Given the description of an element on the screen output the (x, y) to click on. 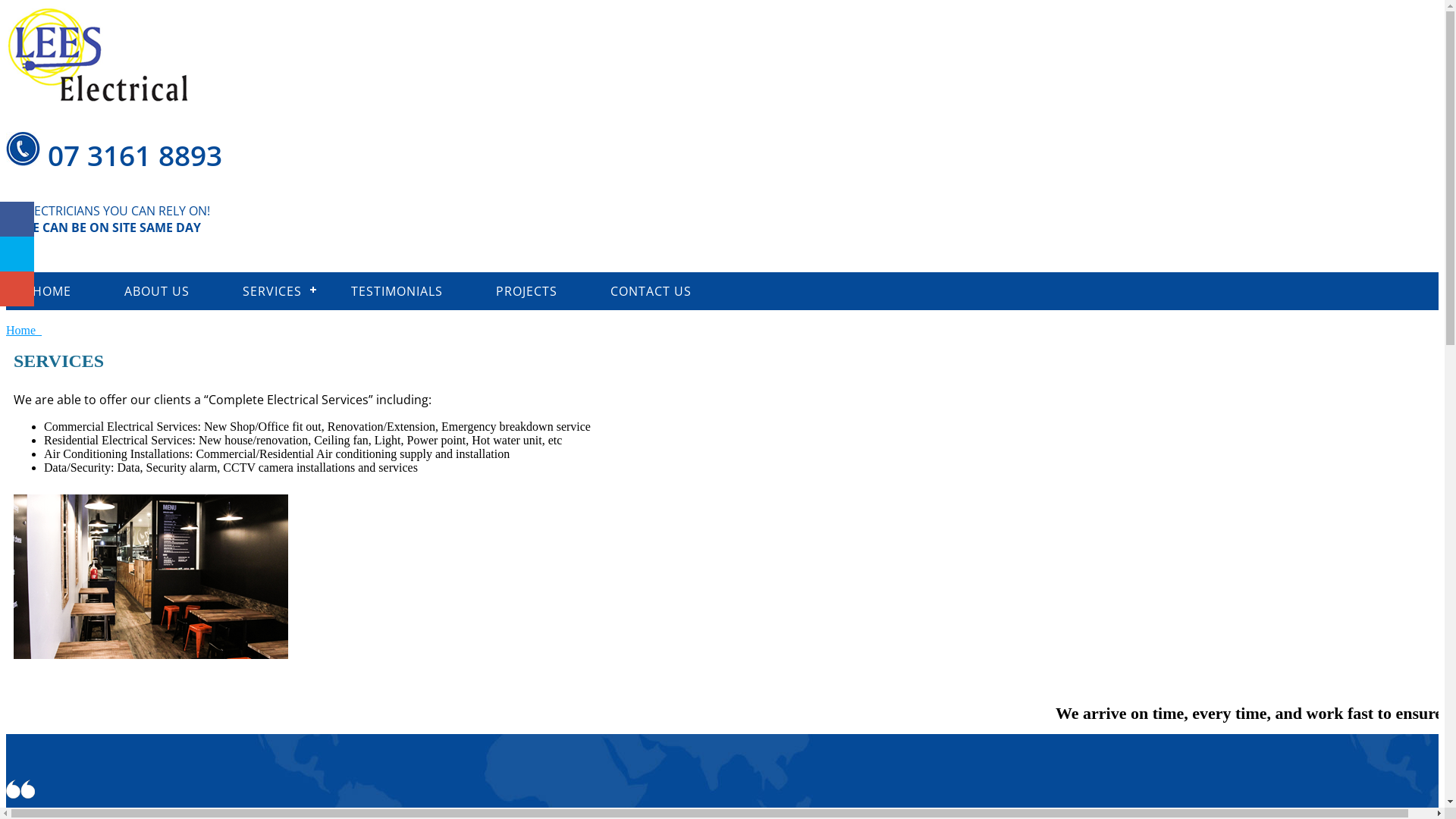
Lees Electrical Element type: hover (97, 54)
share with: facebook Element type: hover (17, 218)
PROJECTS Element type: text (526, 291)
SERVICES Element type: text (270, 291)
CONTACT US Element type: text (650, 291)
TESTIMONIALS Element type: text (396, 291)
ABOUT US Element type: text (156, 291)
share with: google-plus Element type: hover (17, 288)
Tap To Call Element type: text (722, 253)
HOME Element type: text (51, 291)
Home   Element type: text (23, 329)
share with: twitter Element type: hover (17, 253)
